Given the description of an element on the screen output the (x, y) to click on. 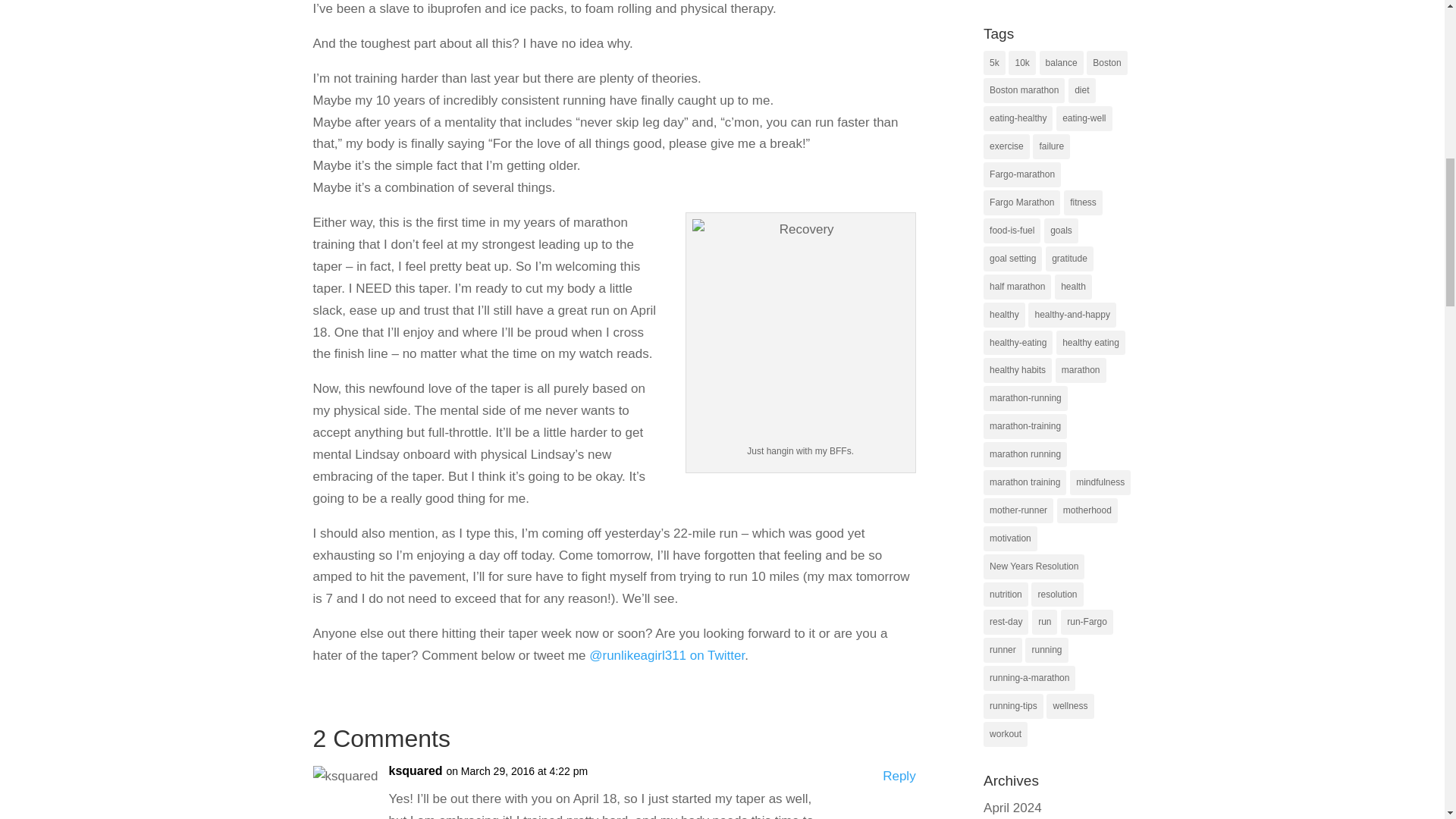
Sign up! (1361, 191)
ksquared (415, 771)
Reply (898, 776)
